Given the description of an element on the screen output the (x, y) to click on. 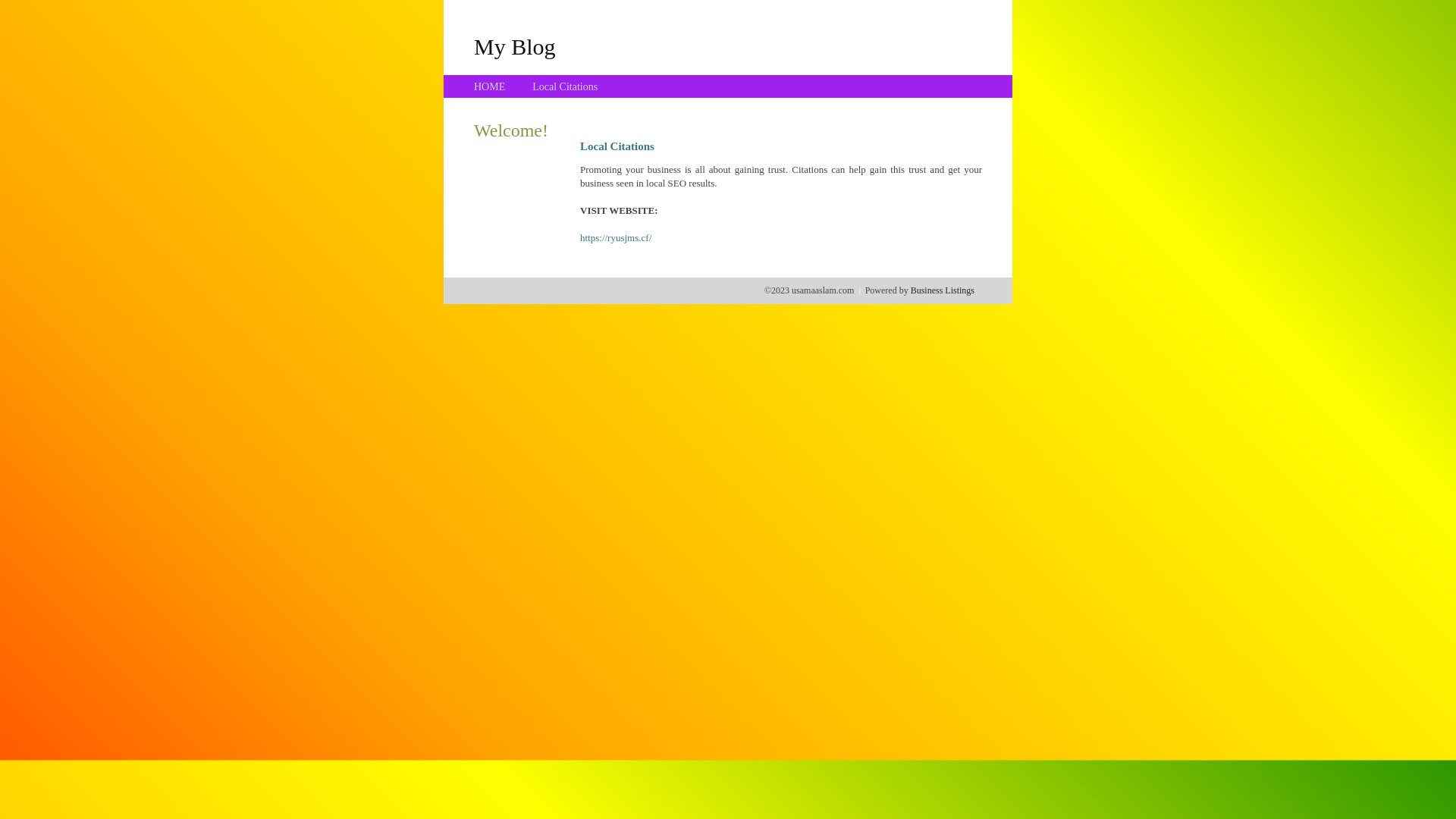
HOME Element type: text (489, 86)
https://ryusjms.cf/ Element type: text (615, 237)
Business Listings Element type: text (942, 290)
My Blog Element type: text (514, 46)
Local Citations Element type: text (564, 86)
